Given the description of an element on the screen output the (x, y) to click on. 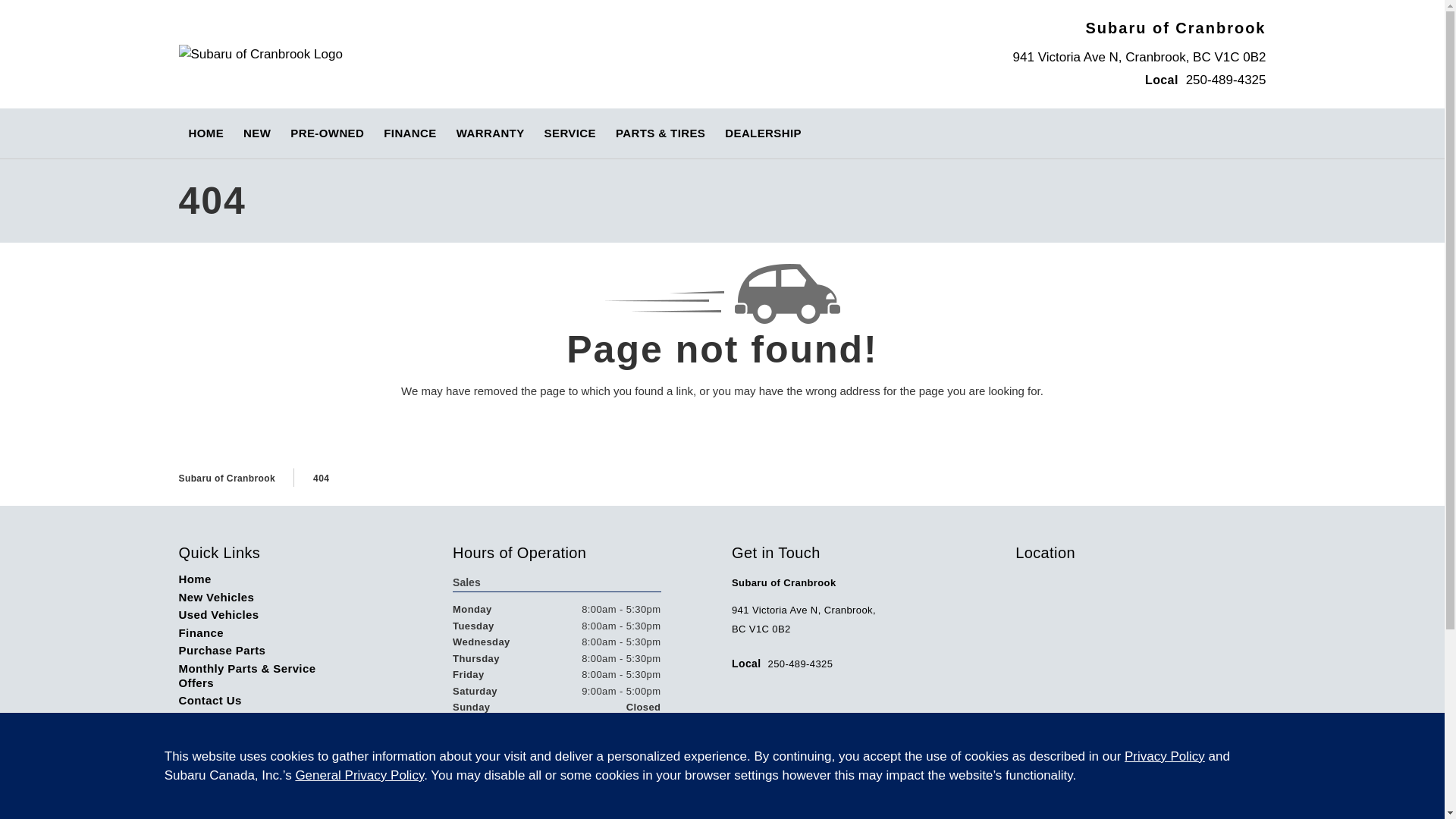
WARRANTY (490, 133)
Go to Subaru of Cranbrook. (227, 478)
PRE-OWNED (327, 133)
NEW (256, 133)
SERVICE (569, 133)
HOME (206, 133)
Local 250-489-4325 (1205, 79)
DEALERSHIP (762, 133)
Location Image Map (1139, 682)
FINANCE (409, 133)
